Given the description of an element on the screen output the (x, y) to click on. 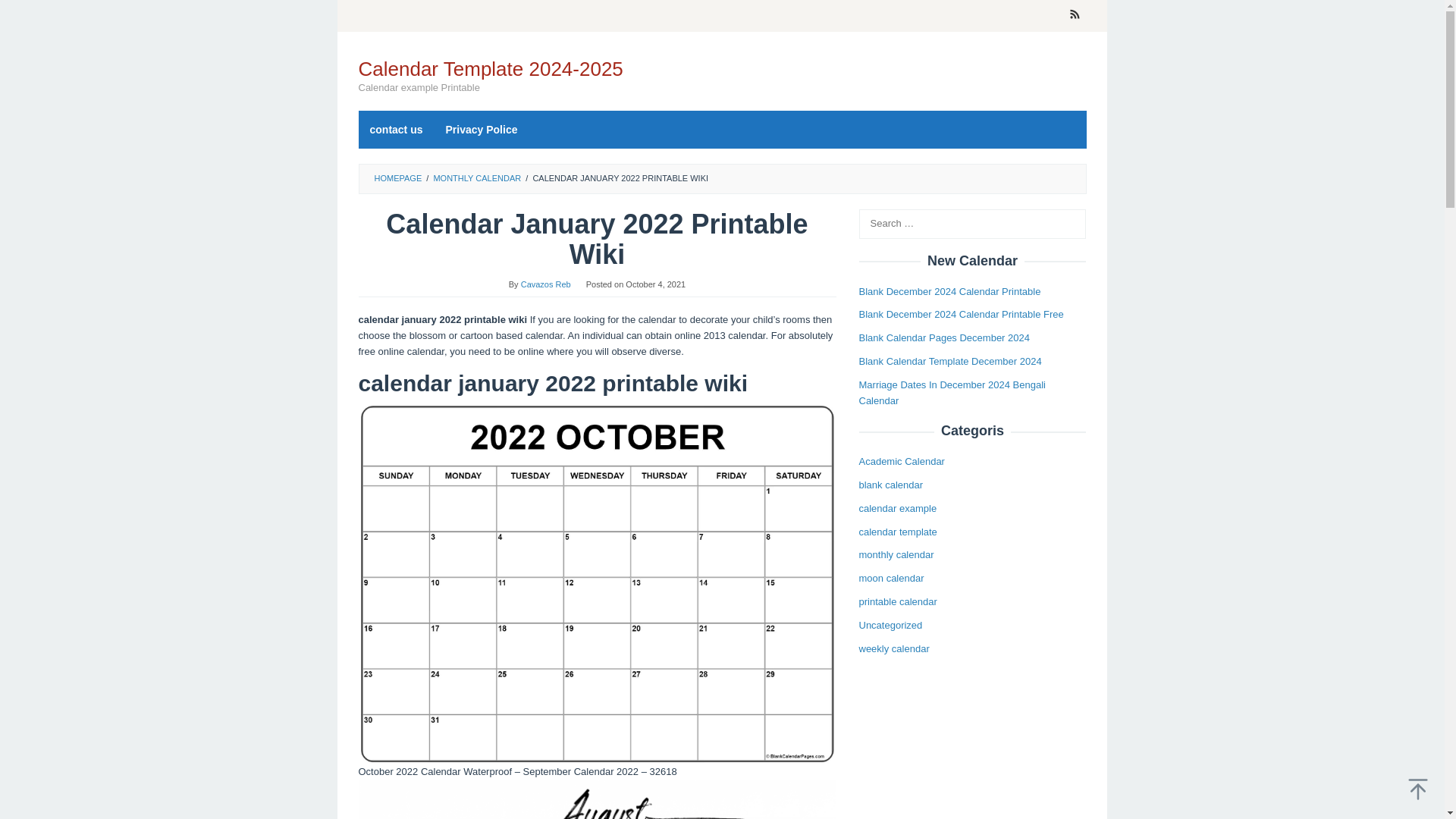
calendar template (897, 531)
moon calendar (891, 577)
weekly calendar (893, 648)
Blank December 2024 Calendar Printable (950, 291)
Academic Calendar (901, 460)
Blank Calendar Template December 2024 (950, 360)
Calendar Template 2024-2025 (490, 68)
calendar example (897, 508)
Marriage Dates In December 2024 Bengali Calendar (952, 392)
